Given the description of an element on the screen output the (x, y) to click on. 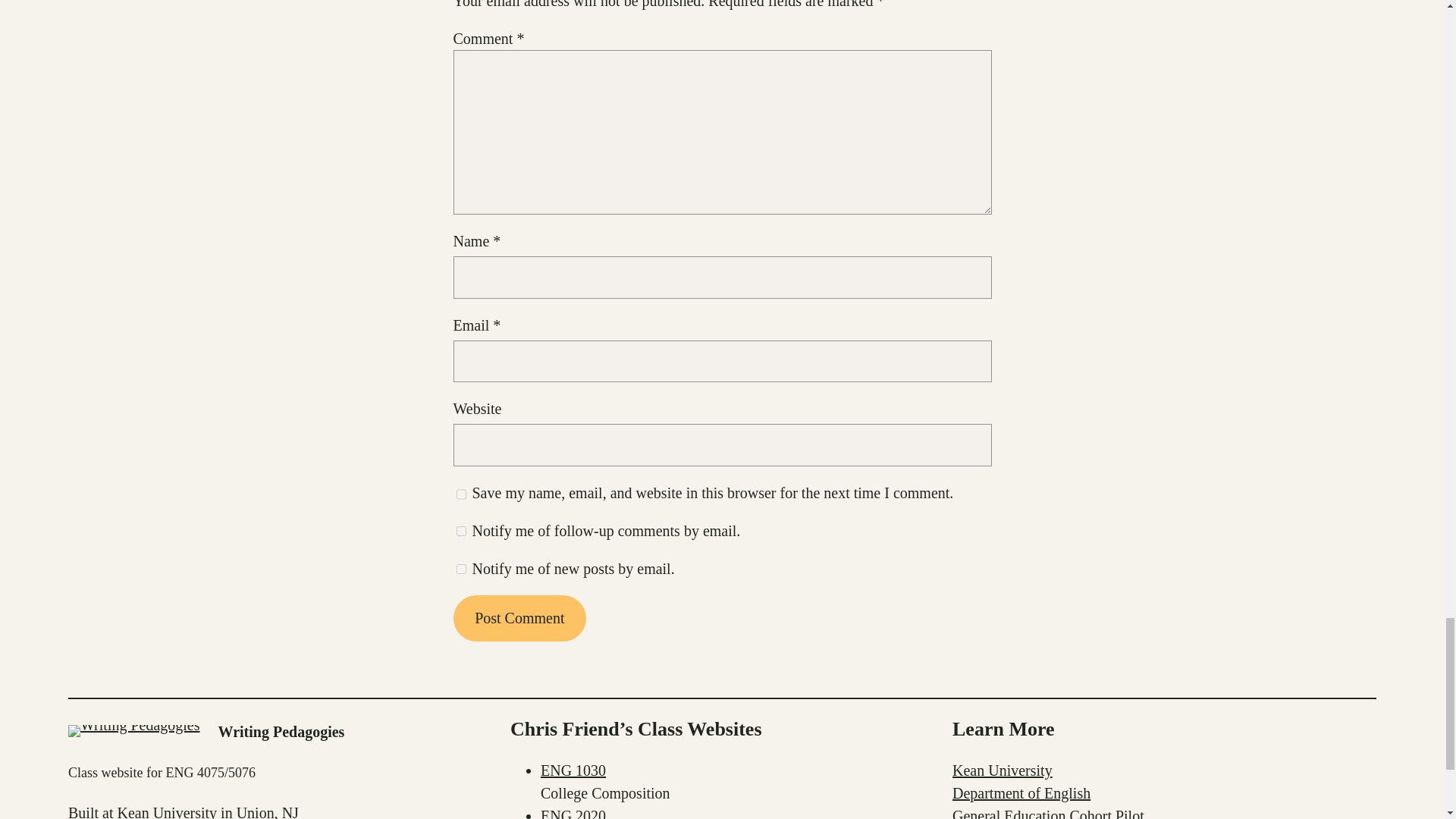
Kean University (1002, 770)
subscribe (461, 531)
General Education Cohort Pilot (1048, 813)
Post Comment (519, 618)
ENG 1030 (572, 770)
subscribe (461, 569)
Department of English (1021, 792)
Post Comment (519, 618)
Writing Pedagogies (281, 731)
ENG 2020 (572, 813)
